Given the description of an element on the screen output the (x, y) to click on. 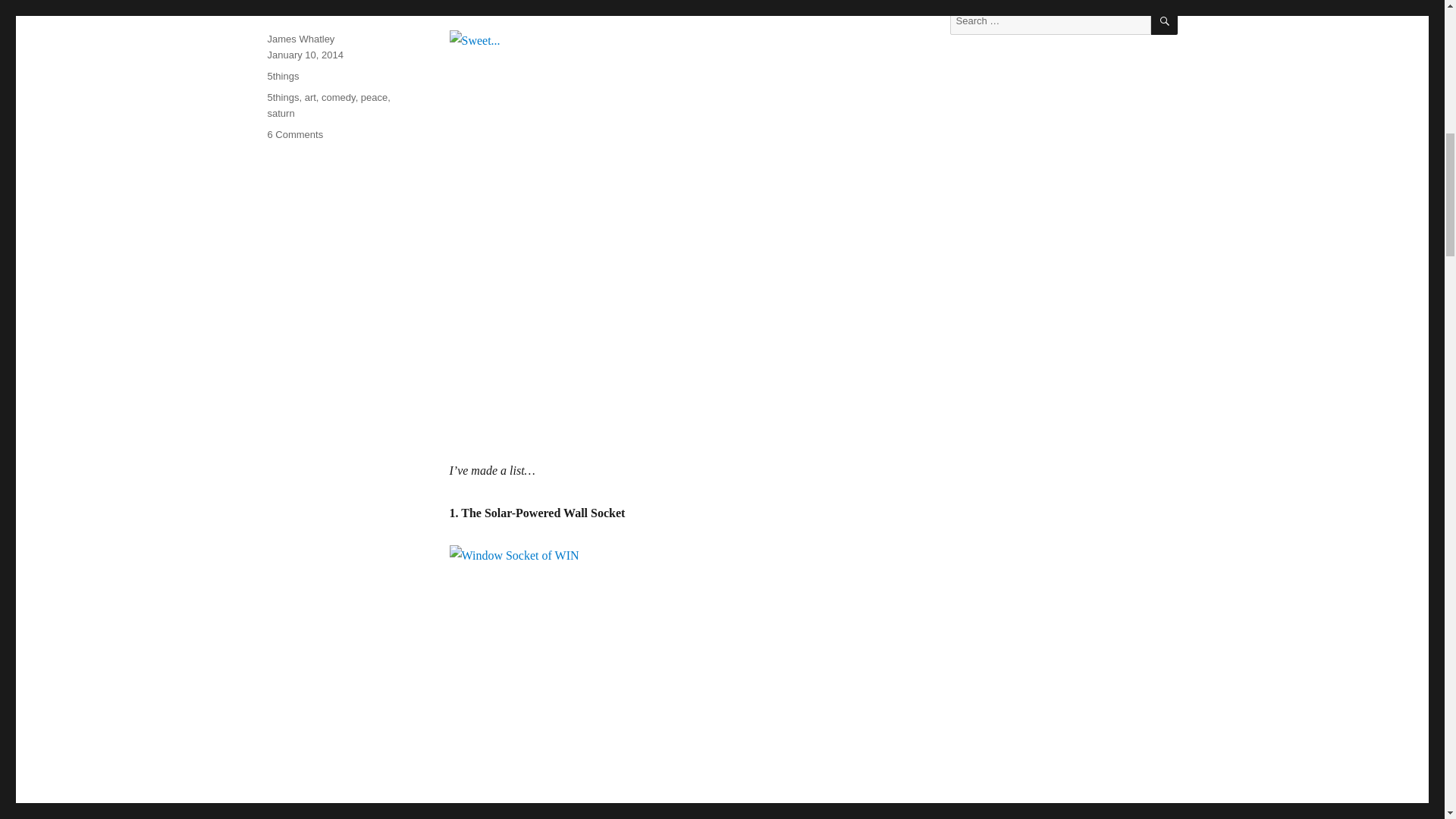
5things (282, 97)
peace (374, 97)
5things (282, 75)
6 Comments (294, 134)
art (309, 97)
James Whatley (300, 39)
saturn (280, 112)
comedy (338, 97)
January 10, 2014 (304, 54)
